Given the description of an element on the screen output the (x, y) to click on. 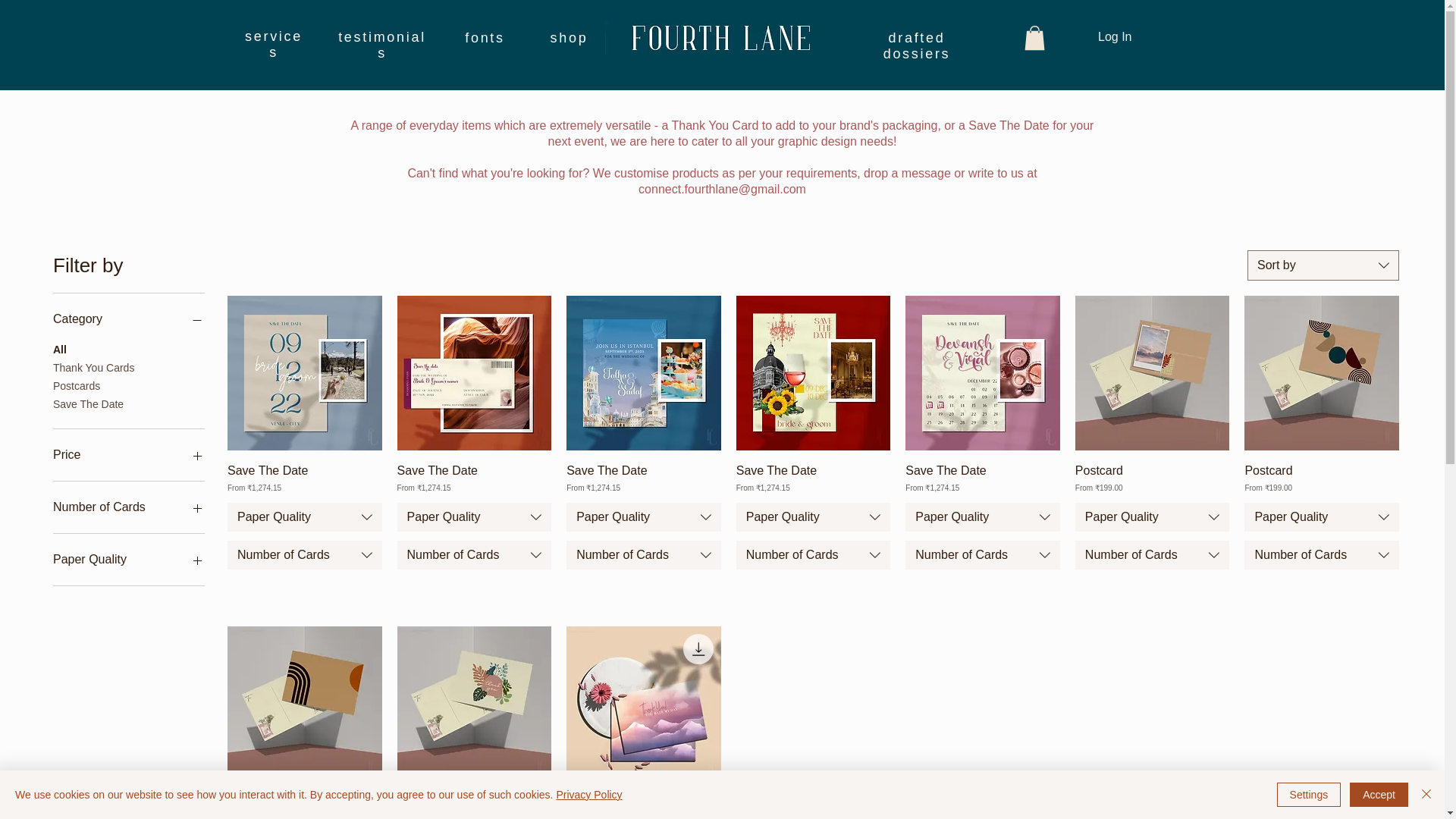
Number of Cards (813, 554)
Paper Quality (643, 516)
Number of Cards (474, 554)
drafted dossiers (916, 45)
Number of Cards (128, 506)
shop (569, 37)
Number of Cards (304, 554)
